Given the description of an element on the screen output the (x, y) to click on. 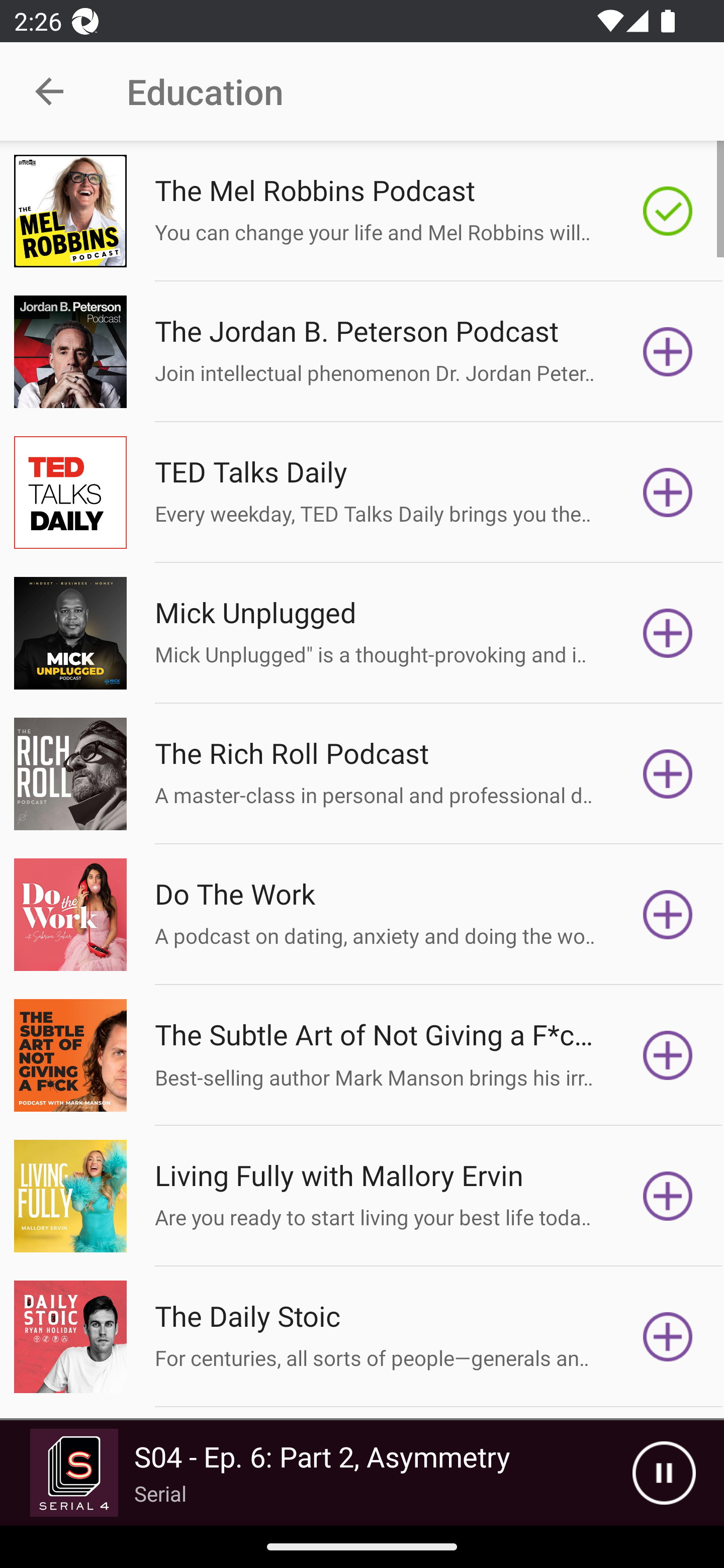
Navigate up (49, 91)
Subscribed (667, 211)
Subscribe (667, 350)
Subscribe (667, 491)
Subscribe (667, 633)
Subscribe (667, 773)
Subscribe (667, 913)
Subscribe (667, 1054)
Subscribe (667, 1195)
Subscribe (667, 1336)
Picture S04 - Ep. 6: Part 2, Asymmetry Serial (316, 1472)
Pause (663, 1472)
